Given the description of an element on the screen output the (x, y) to click on. 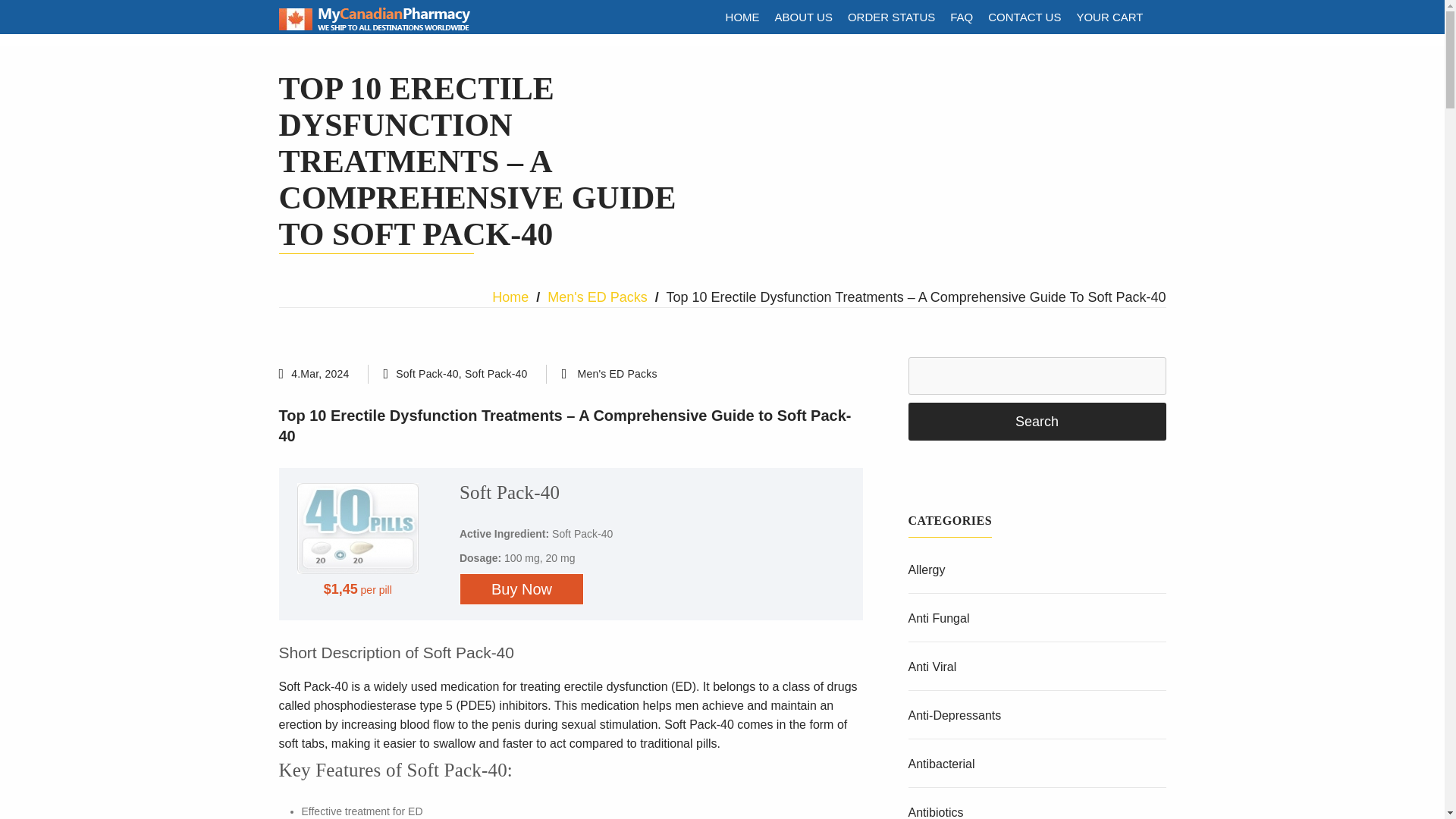
Antibiotics (935, 812)
Anti Viral (932, 666)
Home (510, 296)
FAQ (960, 16)
Search (1037, 421)
Antibacterial (941, 763)
Buy Now (521, 589)
Anti-Depressants (954, 715)
Search (1037, 421)
Buy Now (521, 589)
ABOUT US (803, 16)
Soft Pack-40, Soft Pack-40 (461, 373)
ORDER STATUS (891, 16)
logo (374, 18)
Anti Fungal (938, 617)
